Given the description of an element on the screen output the (x, y) to click on. 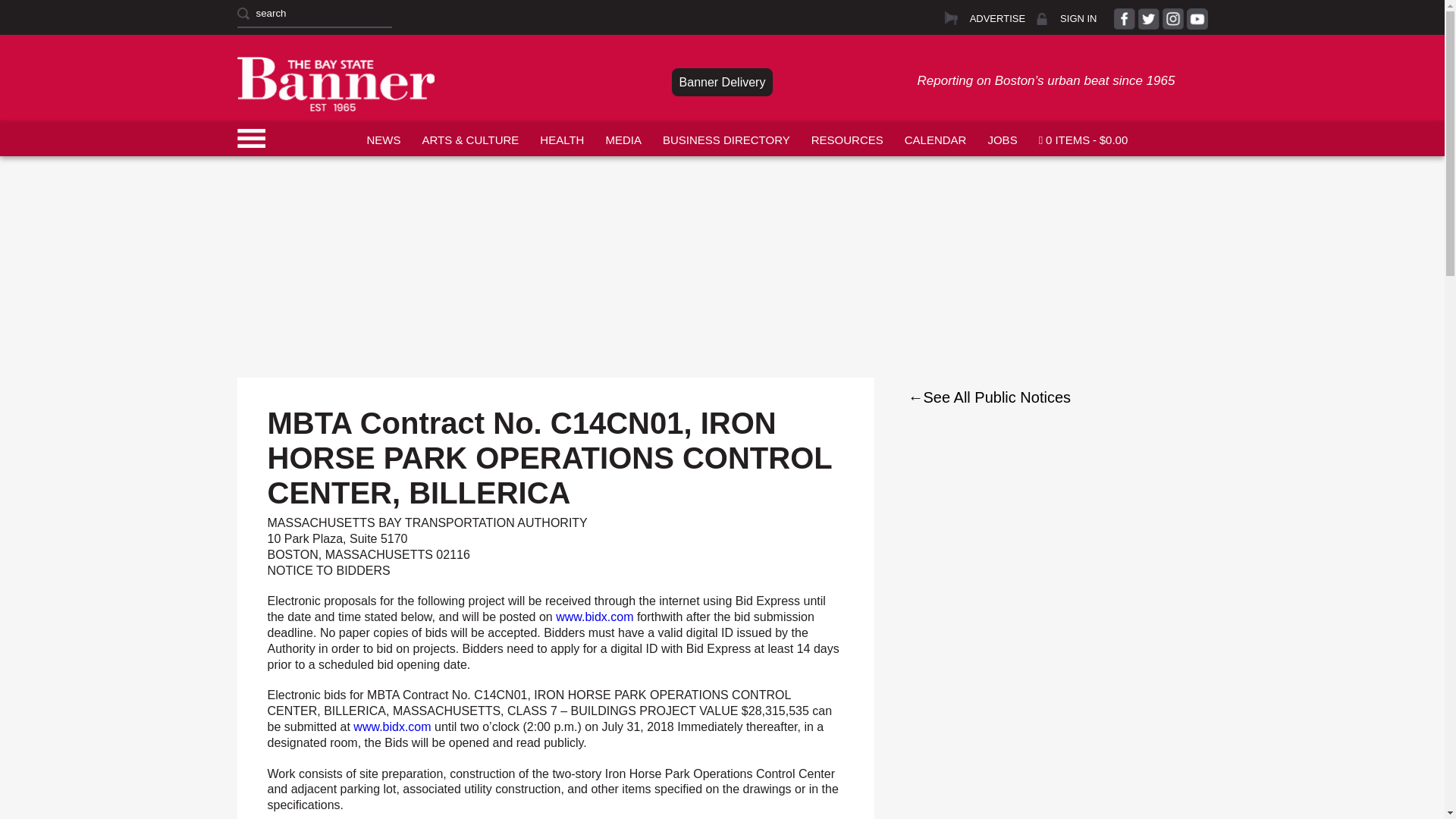
The Bay State Banner (334, 83)
Start shopping (1082, 138)
3rd party ad content (721, 191)
